Given the description of an element on the screen output the (x, y) to click on. 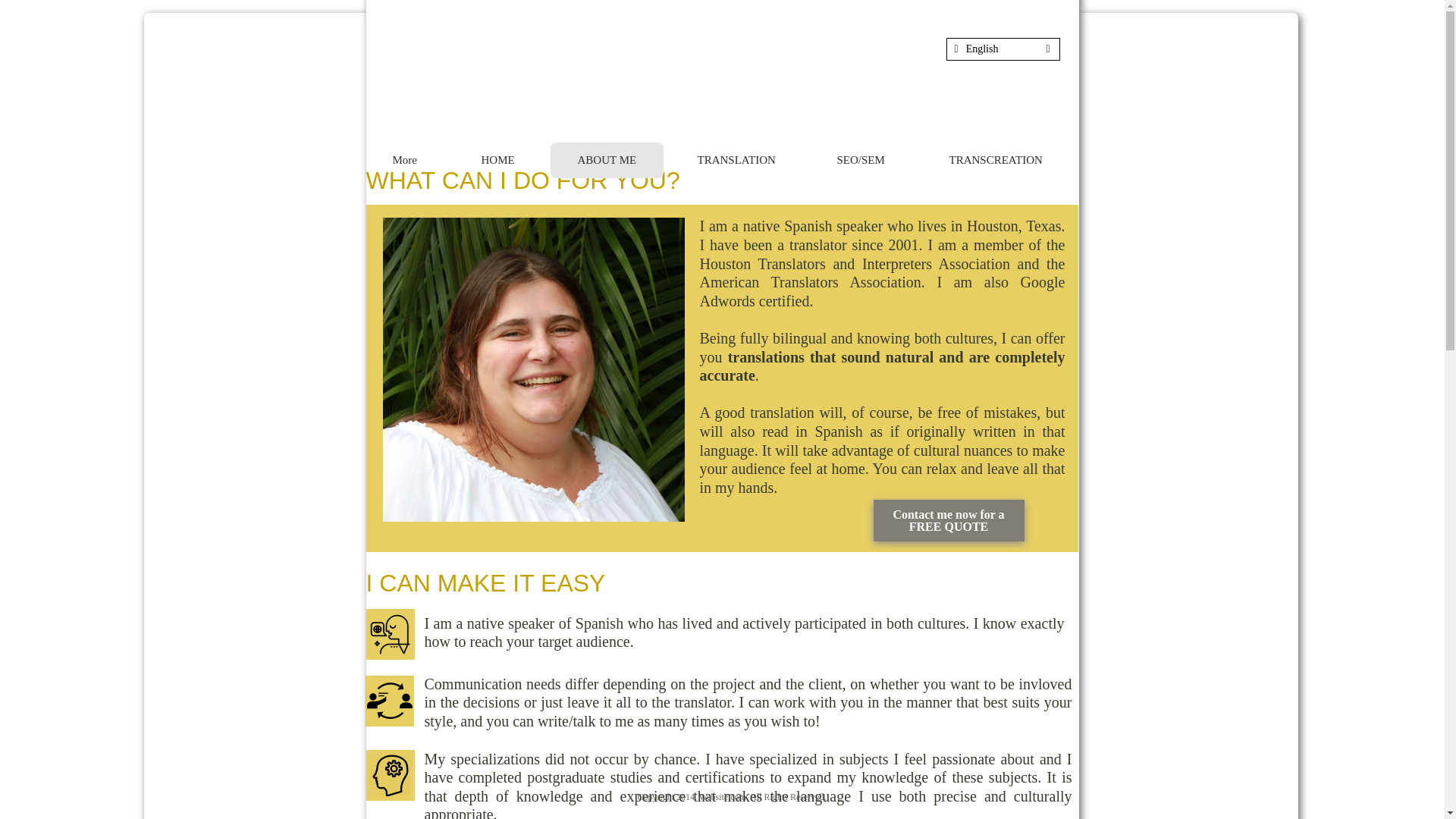
ABOUT ME (606, 160)
More (405, 160)
TRANSLATION (735, 160)
HOME (498, 160)
Website (596, 778)
TRANSCREATION (999, 160)
Website Builder (829, 778)
